Given the description of an element on the screen output the (x, y) to click on. 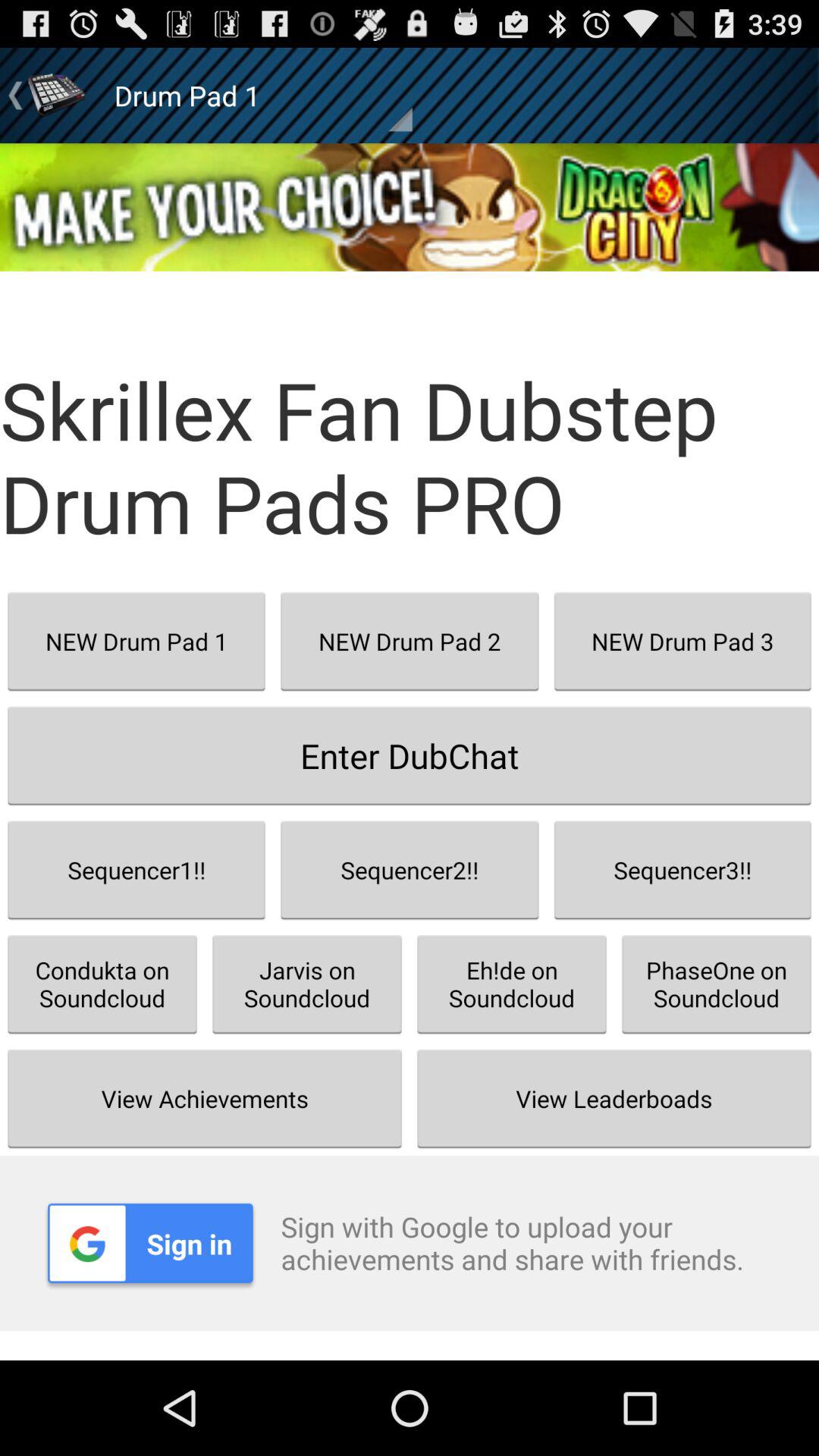
choose the view leaderboads button (614, 1098)
